Given the description of an element on the screen output the (x, y) to click on. 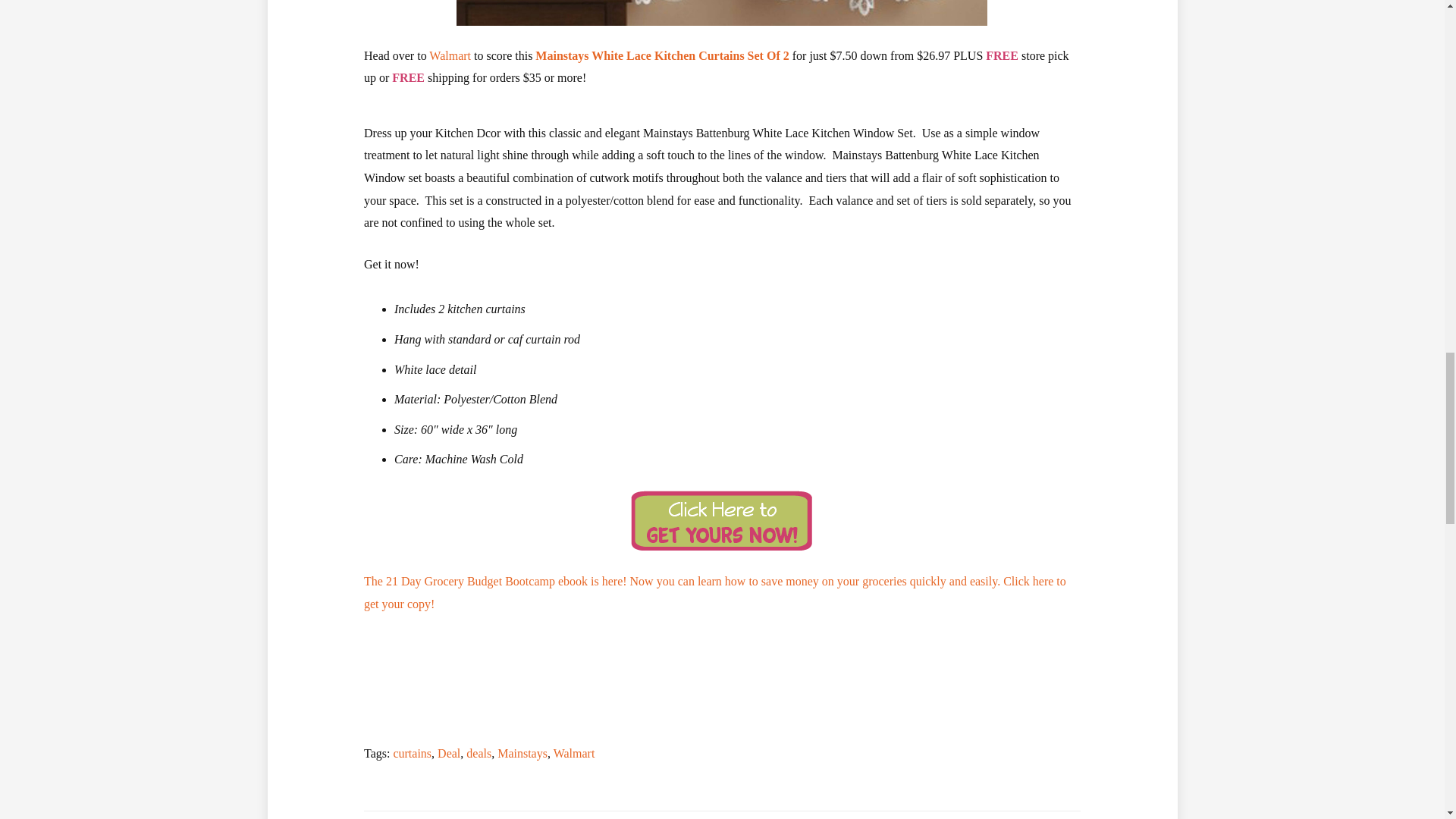
Walmart (449, 55)
deals (478, 753)
Deal (449, 753)
Mainstays (522, 753)
Mainstays White Lace Kitchen Curtains Set Of 2 (662, 55)
curtains (411, 753)
Walmart (574, 753)
